Given the description of an element on the screen output the (x, y) to click on. 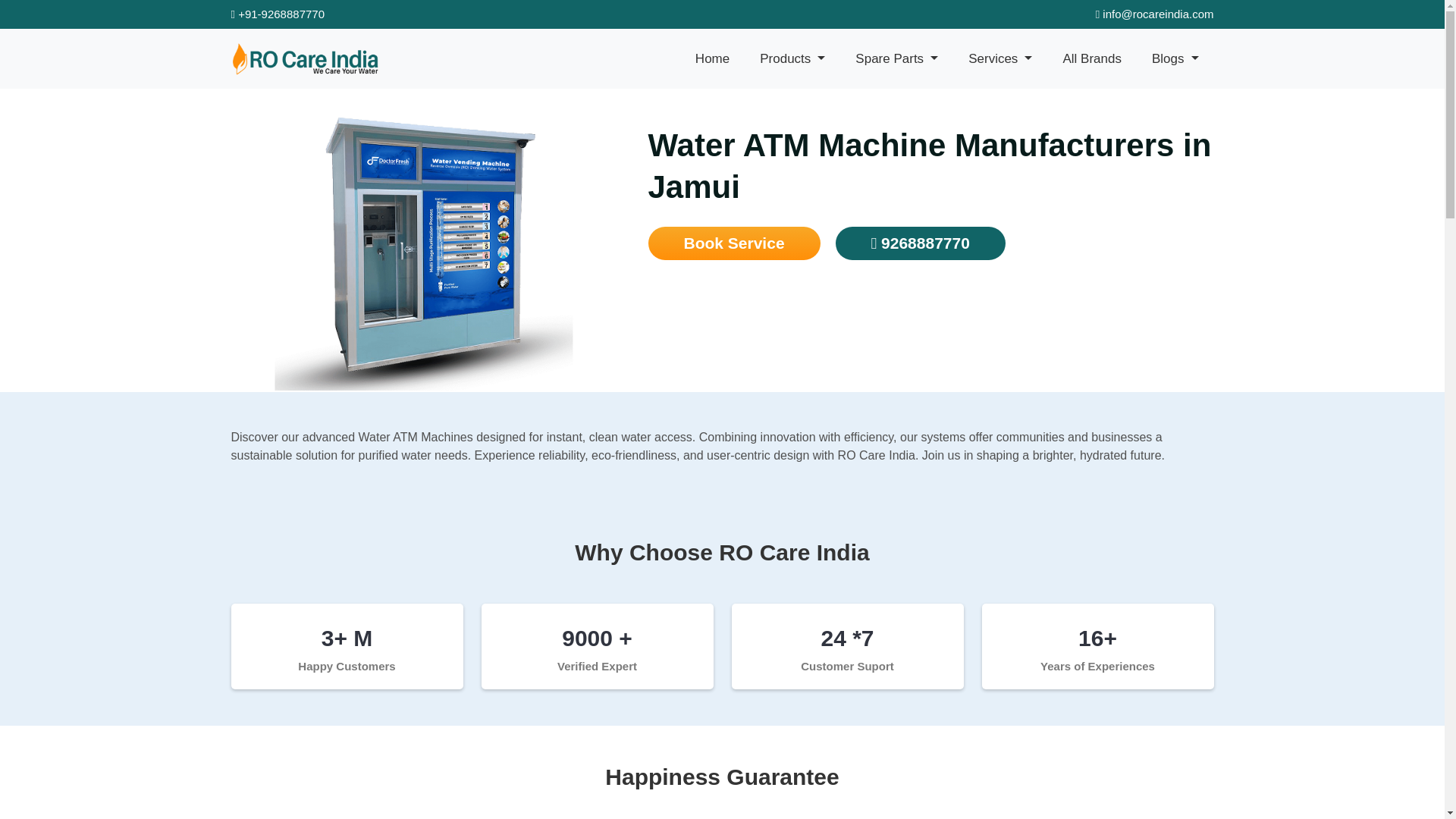
9268887770 (920, 243)
Book Service (733, 243)
Products (792, 58)
All Brands (1091, 58)
Blogs (1175, 58)
Spare Parts (895, 58)
Home (711, 58)
Services (1000, 58)
